Given the description of an element on the screen output the (x, y) to click on. 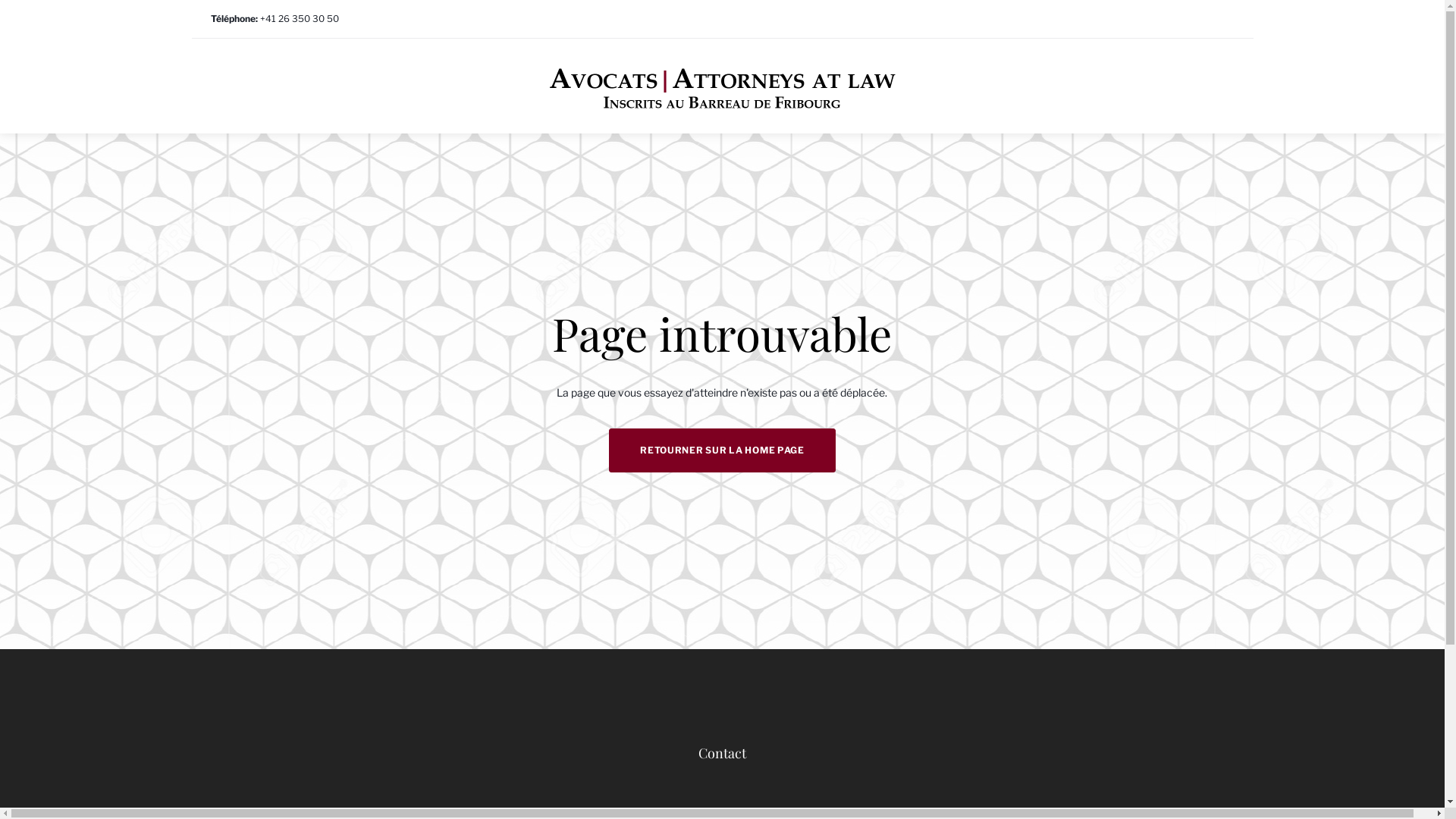
+41 26 350 30 50 Element type: text (298, 18)
RETOURNER SUR LA HOME PAGE Element type: text (721, 450)
